Given the description of an element on the screen output the (x, y) to click on. 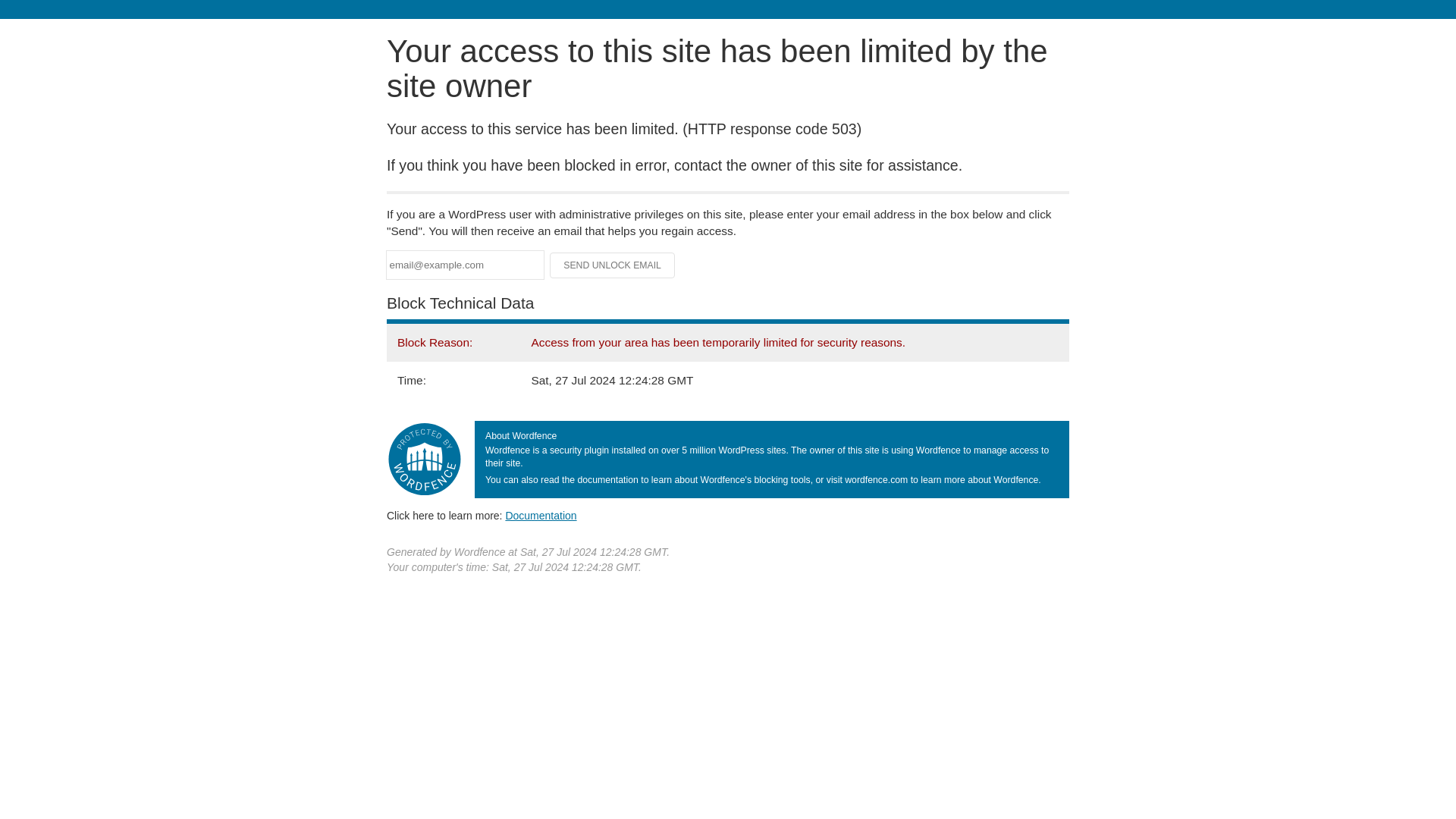
Send Unlock Email (612, 265)
Send Unlock Email (612, 265)
Documentation (540, 515)
